Given the description of an element on the screen output the (x, y) to click on. 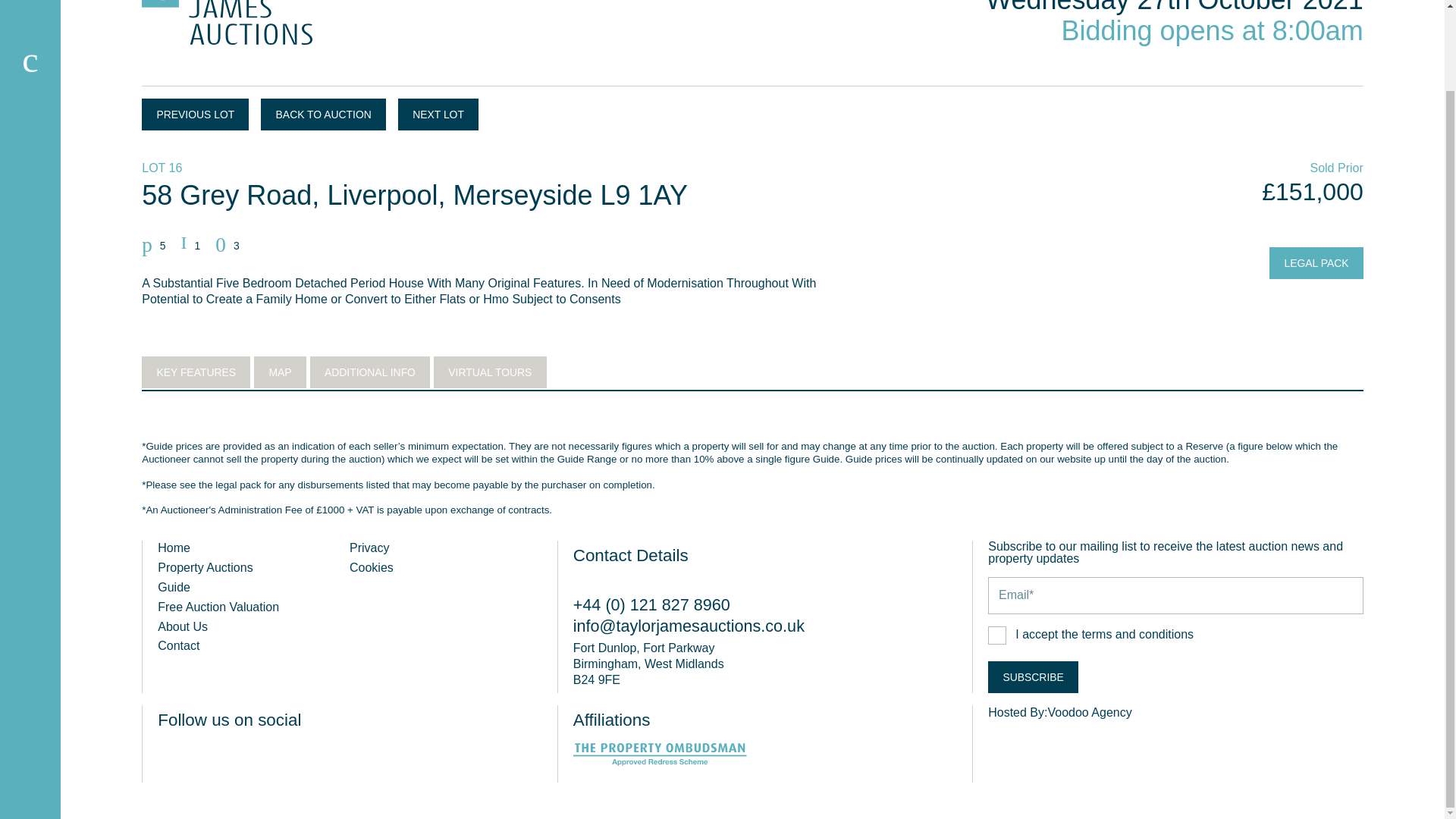
MAP (279, 372)
Guide (173, 586)
Subscribe (1033, 676)
Free Auction Valuation (218, 606)
About Us (182, 626)
Property Auctions (204, 567)
KEY FEATURES (195, 372)
Cookies (371, 567)
Privacy (368, 547)
Voodoo Agency (1088, 743)
